Given the description of an element on the screen output the (x, y) to click on. 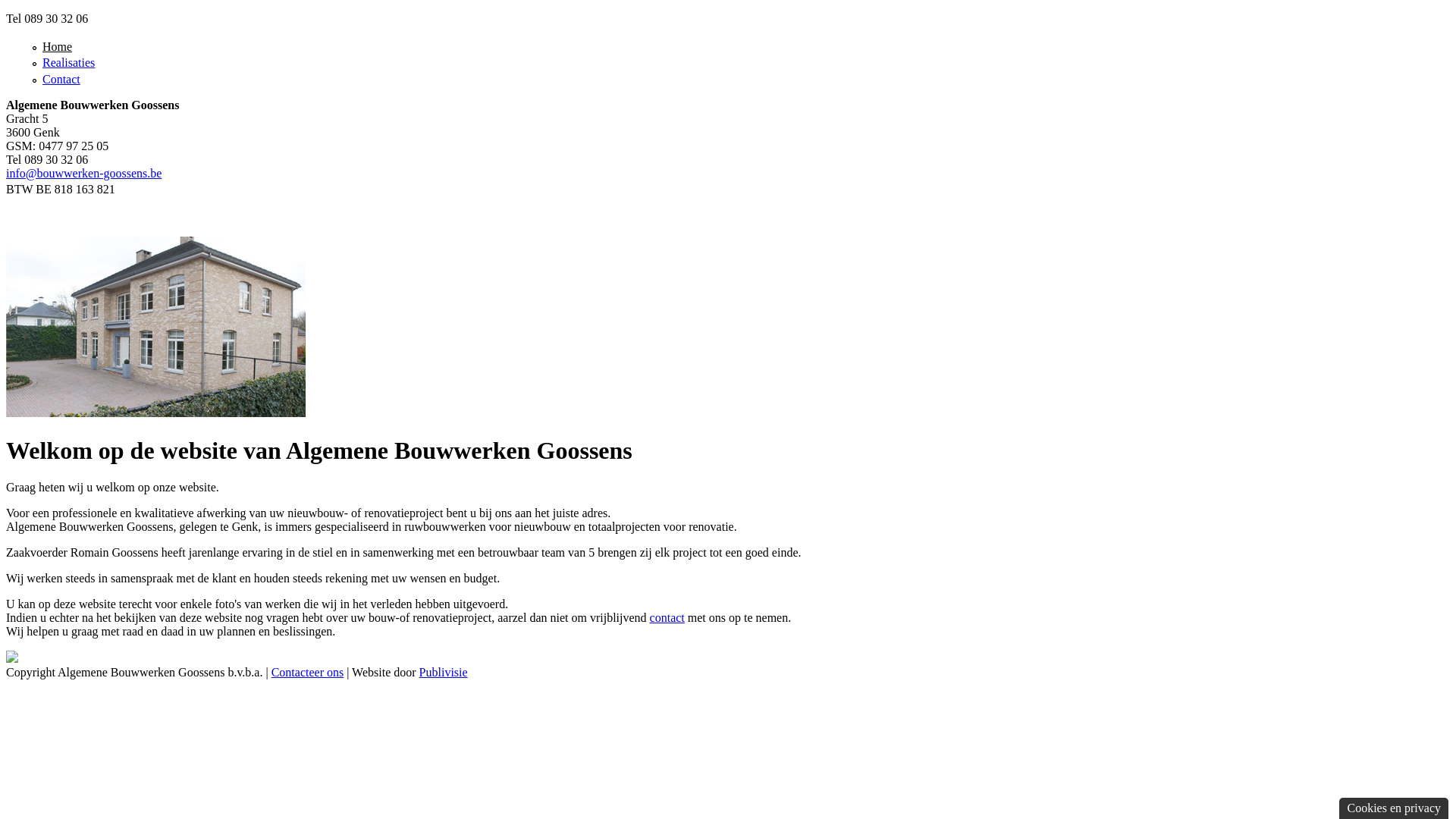
Contact Element type: text (61, 78)
Home Element type: text (57, 46)
Overslaan en naar de algemene inhoud gaan Element type: text (113, 12)
Realisaties Element type: text (68, 62)
Contacteer ons Element type: text (307, 671)
contact Element type: text (666, 617)
Publivisie Element type: text (443, 671)
info@bouwwerken-goossens.be Element type: text (83, 172)
